Given the description of an element on the screen output the (x, y) to click on. 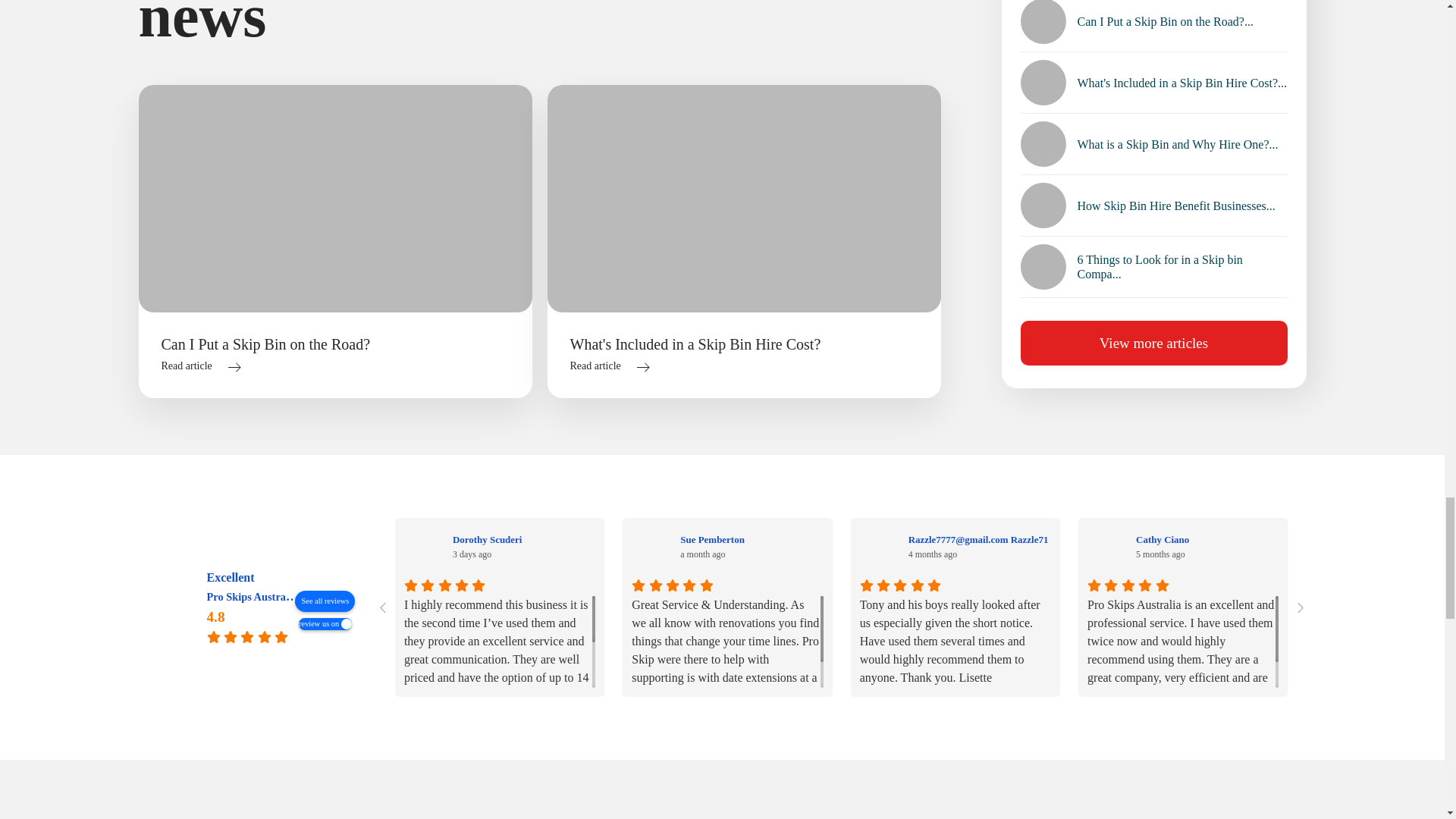
Kassandra (1334, 546)
Cathy Ciano (1206, 539)
Sue Pemberton (651, 546)
Dorothy Scuderi (523, 539)
Sue Pemberton (750, 539)
Dorothy Scuderi (424, 546)
Cathy Ciano (1106, 546)
